Given the description of an element on the screen output the (x, y) to click on. 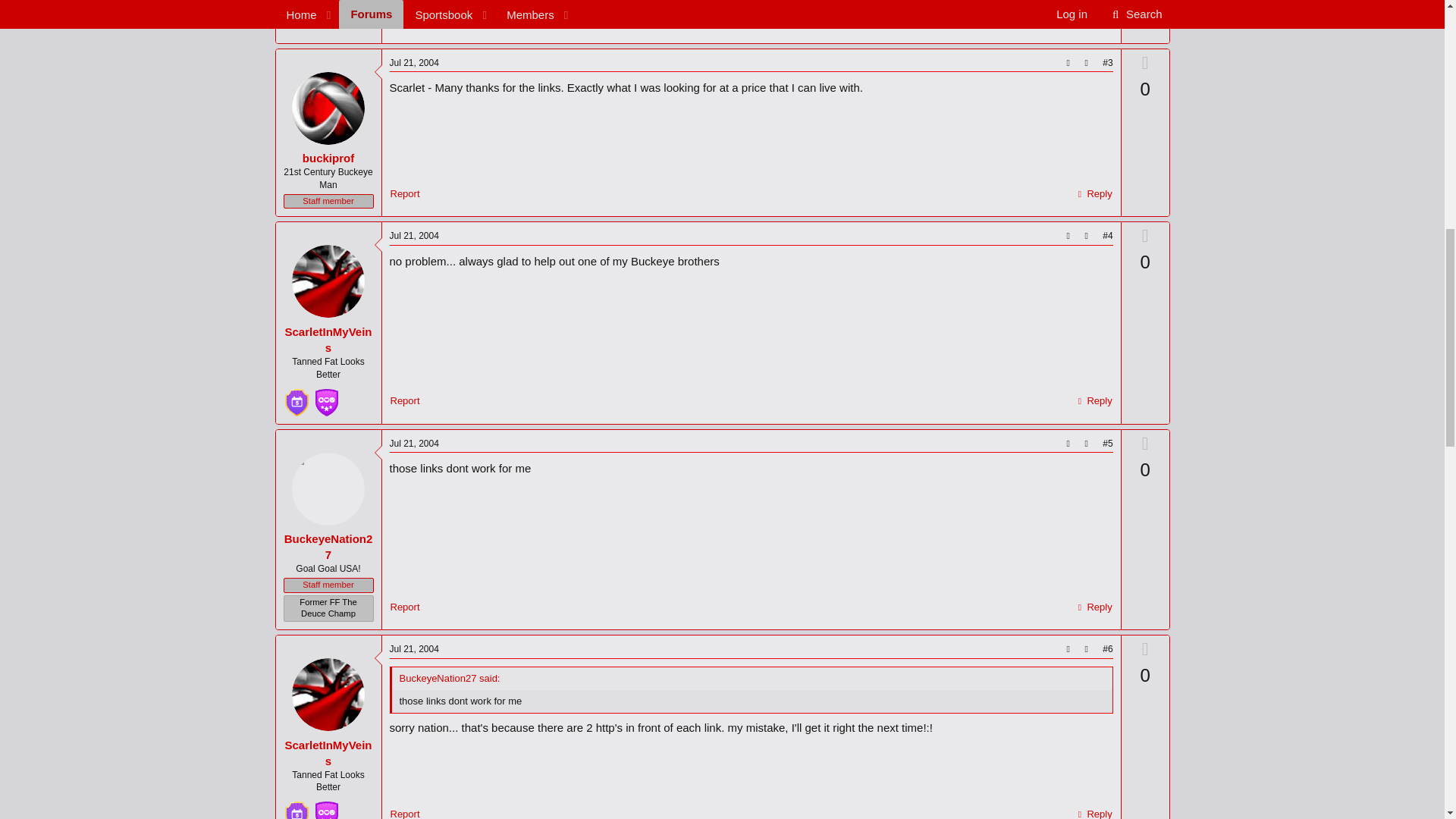
Jul 21, 2004 at 10:43 AM (414, 235)
Reply, quoting this message (1093, 20)
Jul 21, 2004 at 10:52 AM (1090, 0)
Reply, quoting this message (1093, 193)
Bookmark (1086, 235)
Jul 21, 2004 at 10:43 AM (414, 443)
Reply, quoting this message (1093, 401)
Jul 21, 2004 at 10:31 AM (414, 62)
Bookmark (1086, 63)
Bookmark (1086, 443)
